Given the description of an element on the screen output the (x, y) to click on. 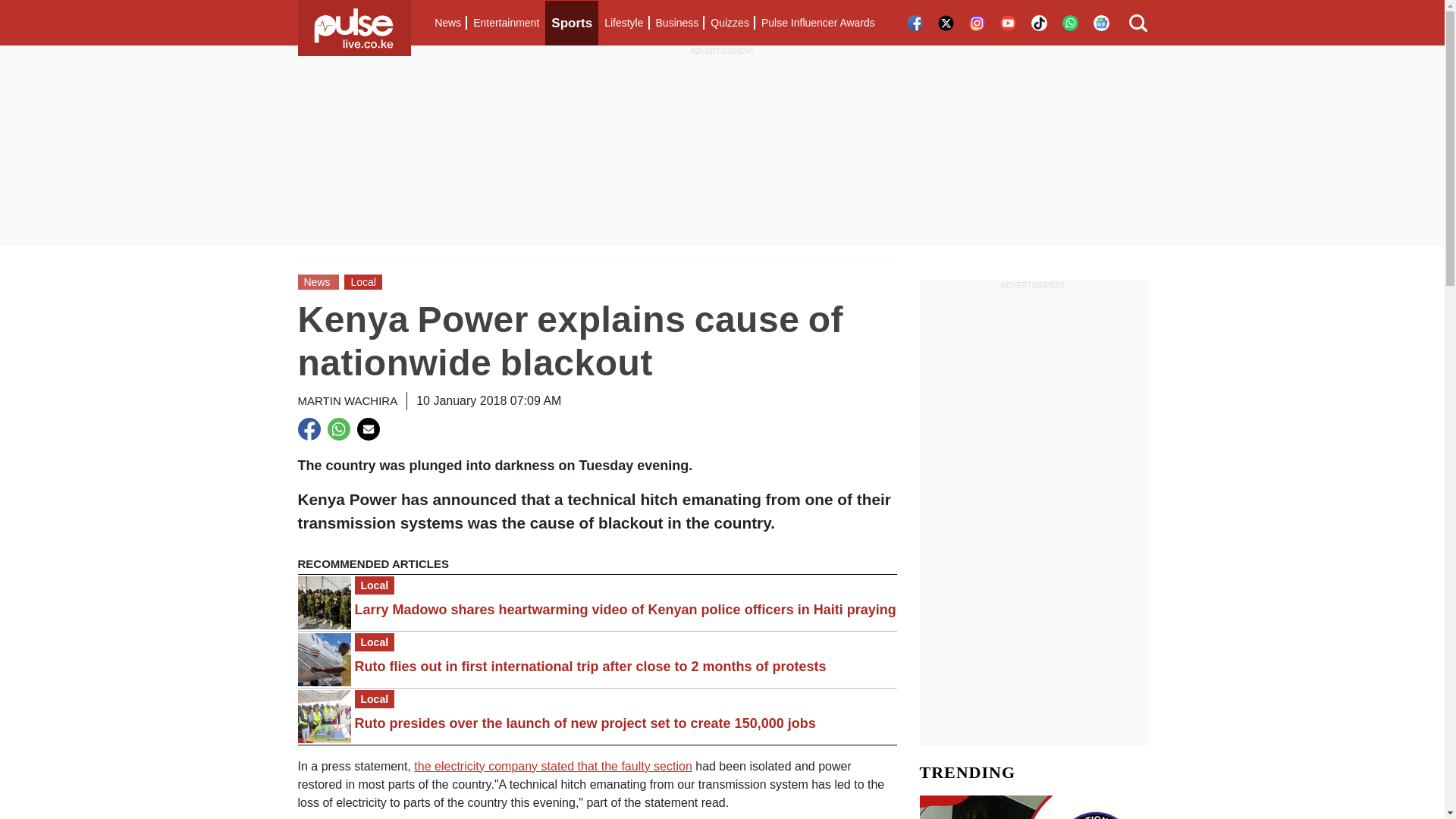
Lifestyle (623, 22)
Pulse Influencer Awards (817, 22)
Entertainment (505, 22)
Business (676, 22)
Sports (571, 22)
Quizzes (729, 22)
